Given the description of an element on the screen output the (x, y) to click on. 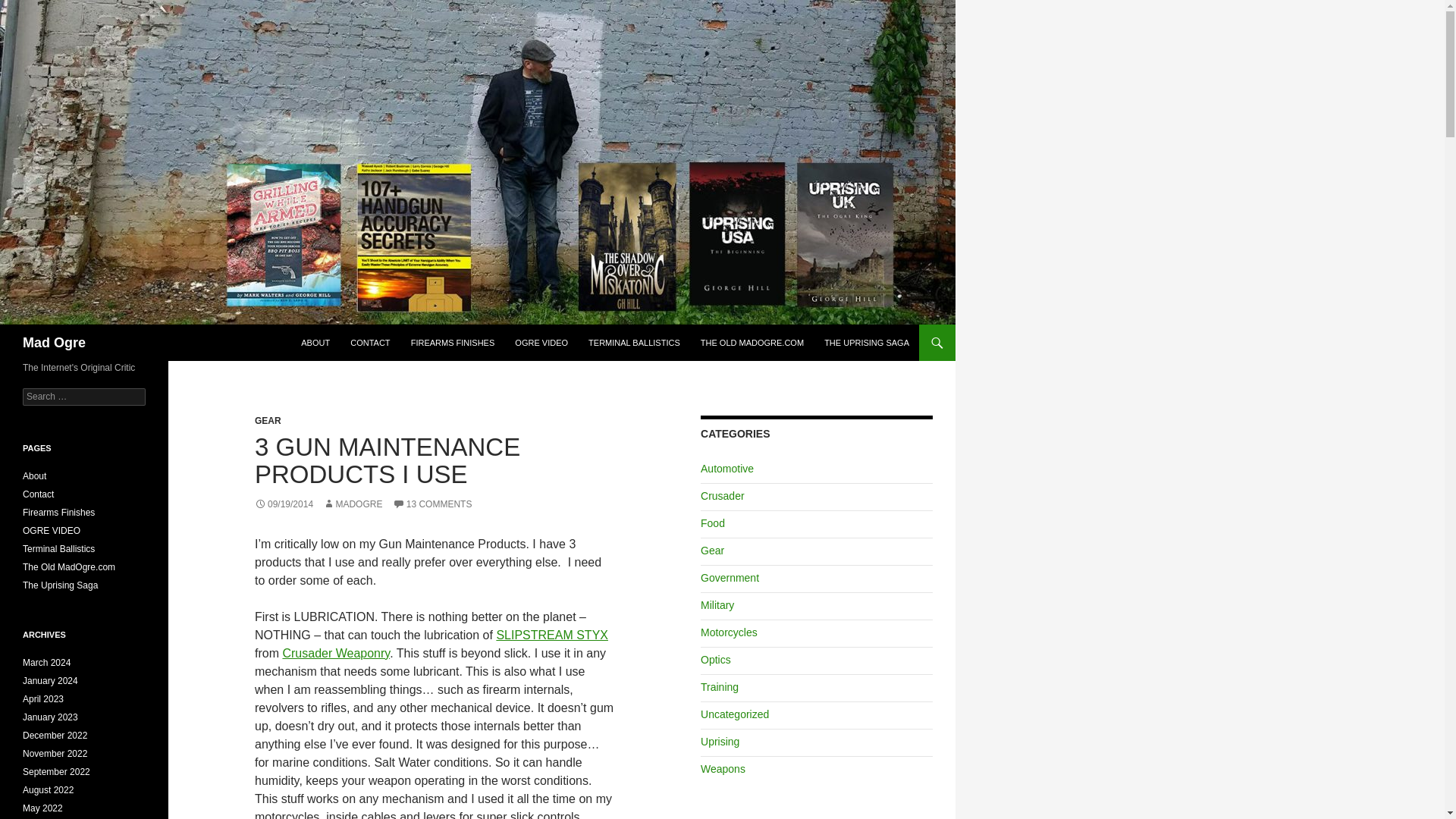
OGRE VIDEO (540, 342)
Mad Ogre (54, 342)
THE OLD MADOGRE.COM (751, 342)
FIREARMS FINISHES (452, 342)
ABOUT (315, 342)
CONTACT (369, 342)
SLIPSTREAM STYX (552, 634)
MADOGRE (352, 503)
13 COMMENTS (432, 503)
